Given the description of an element on the screen output the (x, y) to click on. 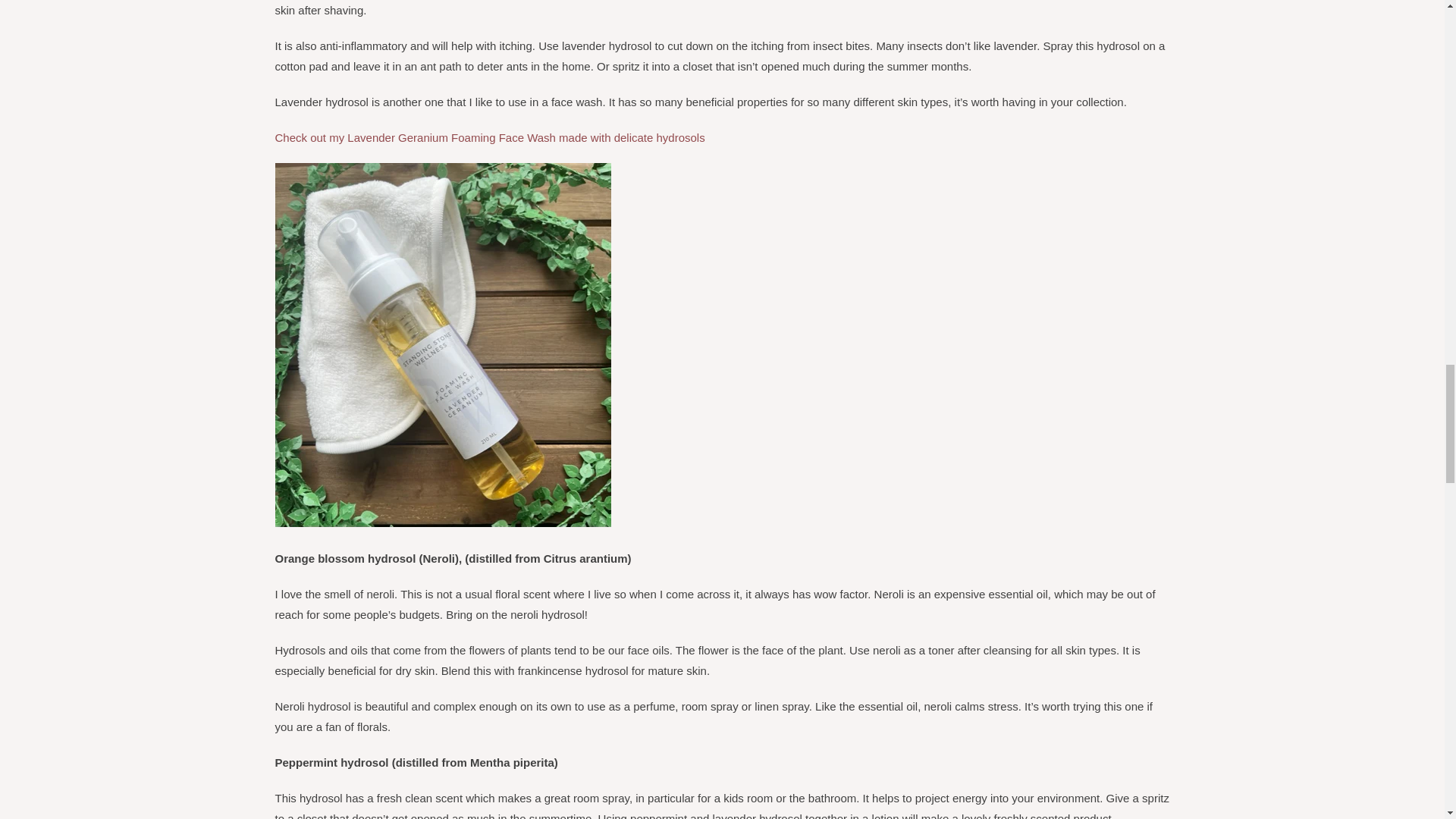
Foaming Face Wash Lavender Geranium (491, 137)
Foaming Face Wash Lavender Geranium (442, 522)
